Given the description of an element on the screen output the (x, y) to click on. 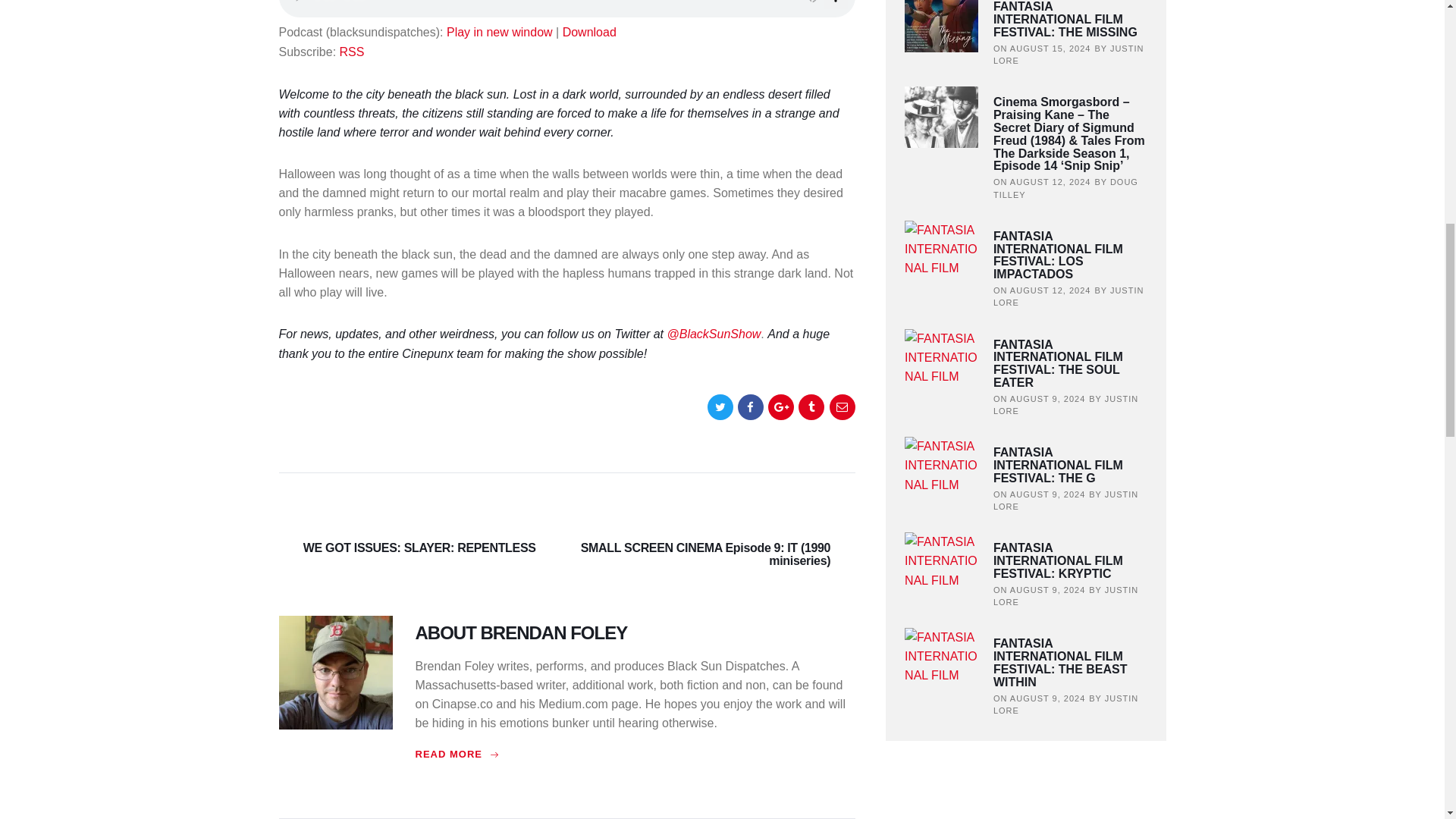
Download (588, 31)
Play in new window (499, 31)
Subscribe via RSS (352, 51)
